Given the description of an element on the screen output the (x, y) to click on. 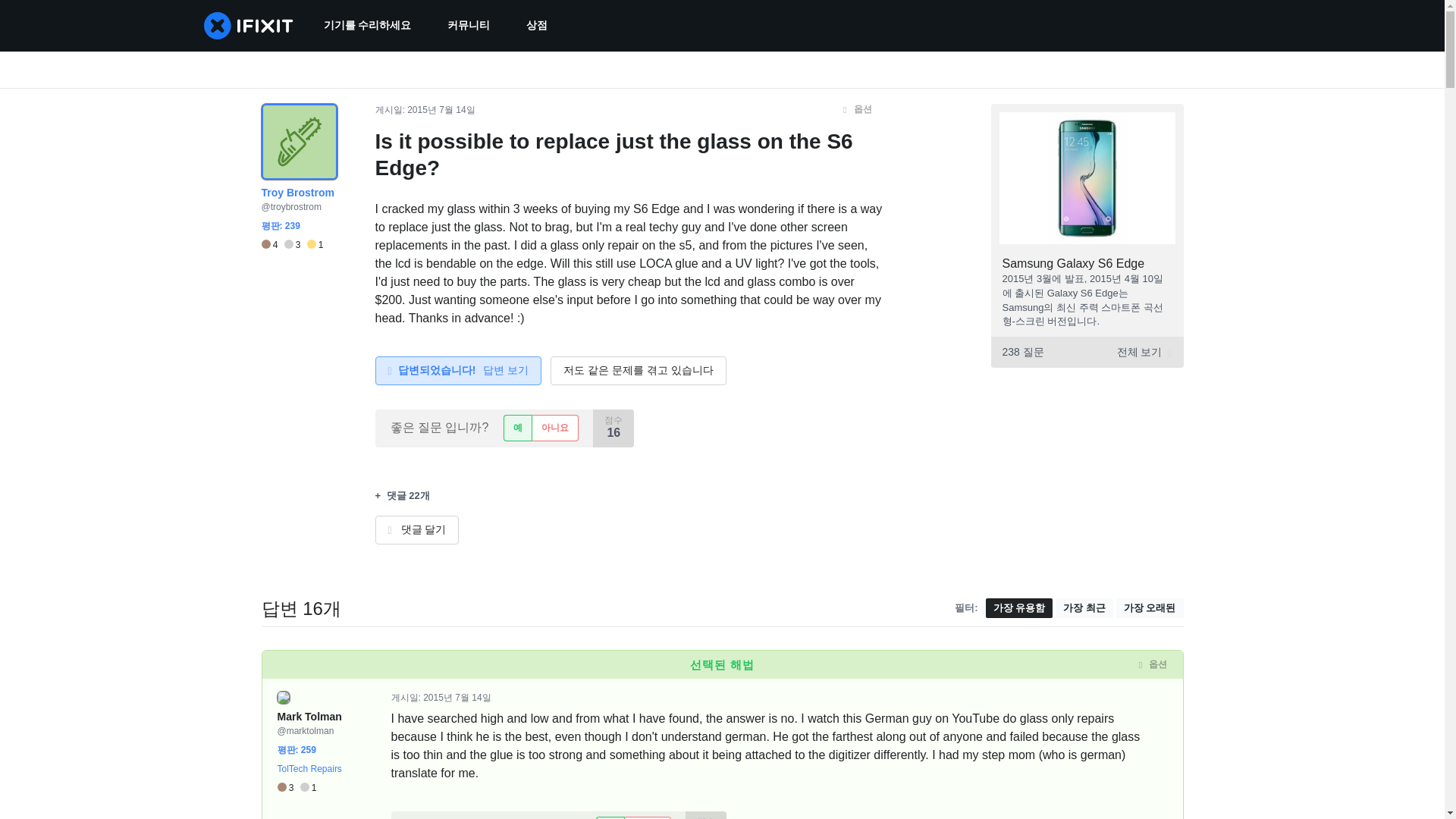
4 3 1 (291, 245)
Tue, 14 Jul 2015 18:44:21 -0700 (456, 697)
Samsung Galaxy S6 Edge (1073, 263)
Tue, 14 Jul 2015 18:30:19 -0700 (440, 109)
